Given the description of an element on the screen output the (x, y) to click on. 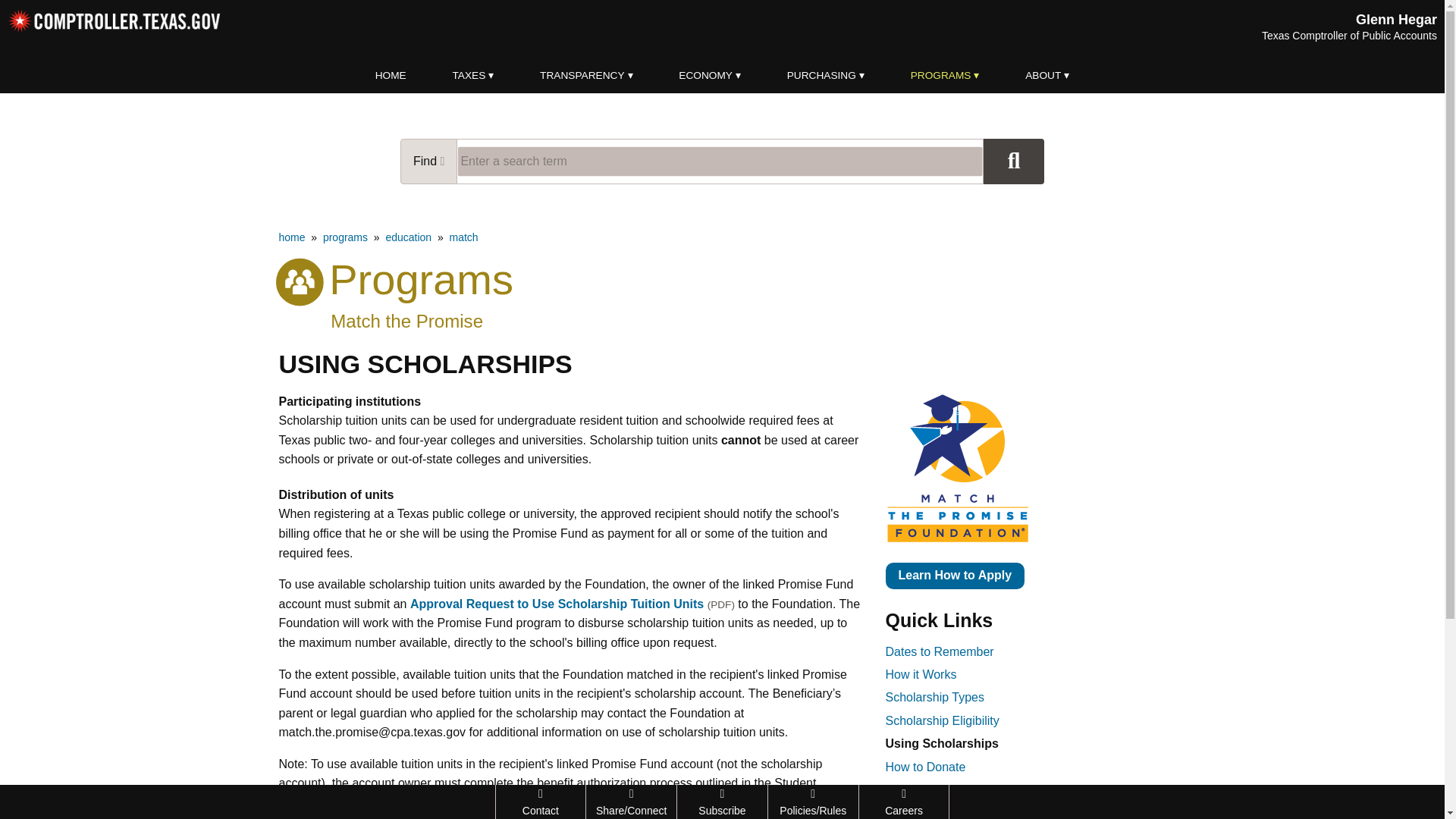
programs (345, 236)
home (292, 236)
HOME (390, 75)
match (462, 236)
TAXES (472, 75)
education (407, 236)
